Given the description of an element on the screen output the (x, y) to click on. 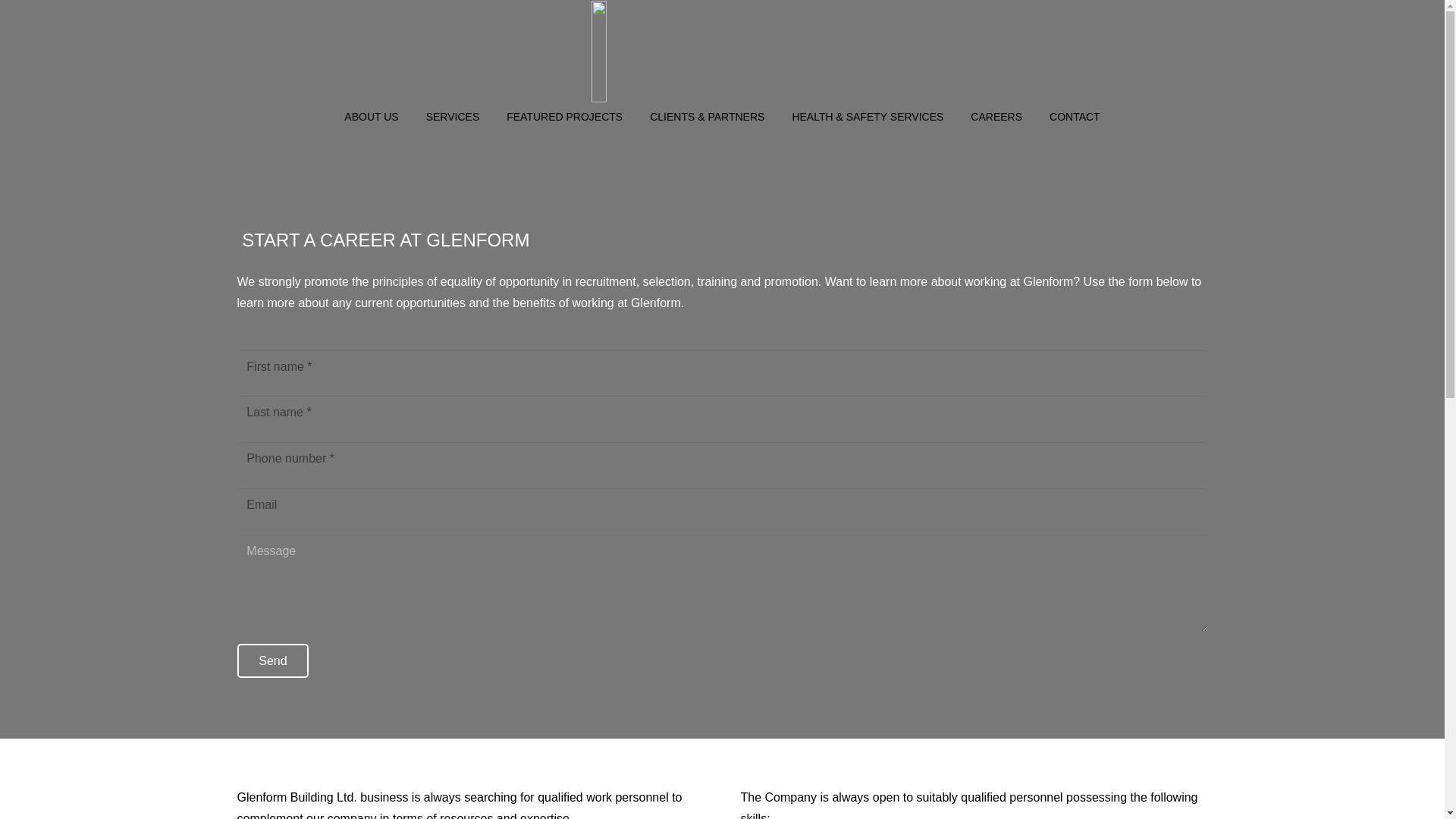
Send (271, 660)
ABOUT US (371, 116)
CAREERS (995, 116)
FEATURED PROJECTS (564, 116)
CONTACT (1074, 116)
SERVICES (452, 116)
